Given the description of an element on the screen output the (x, y) to click on. 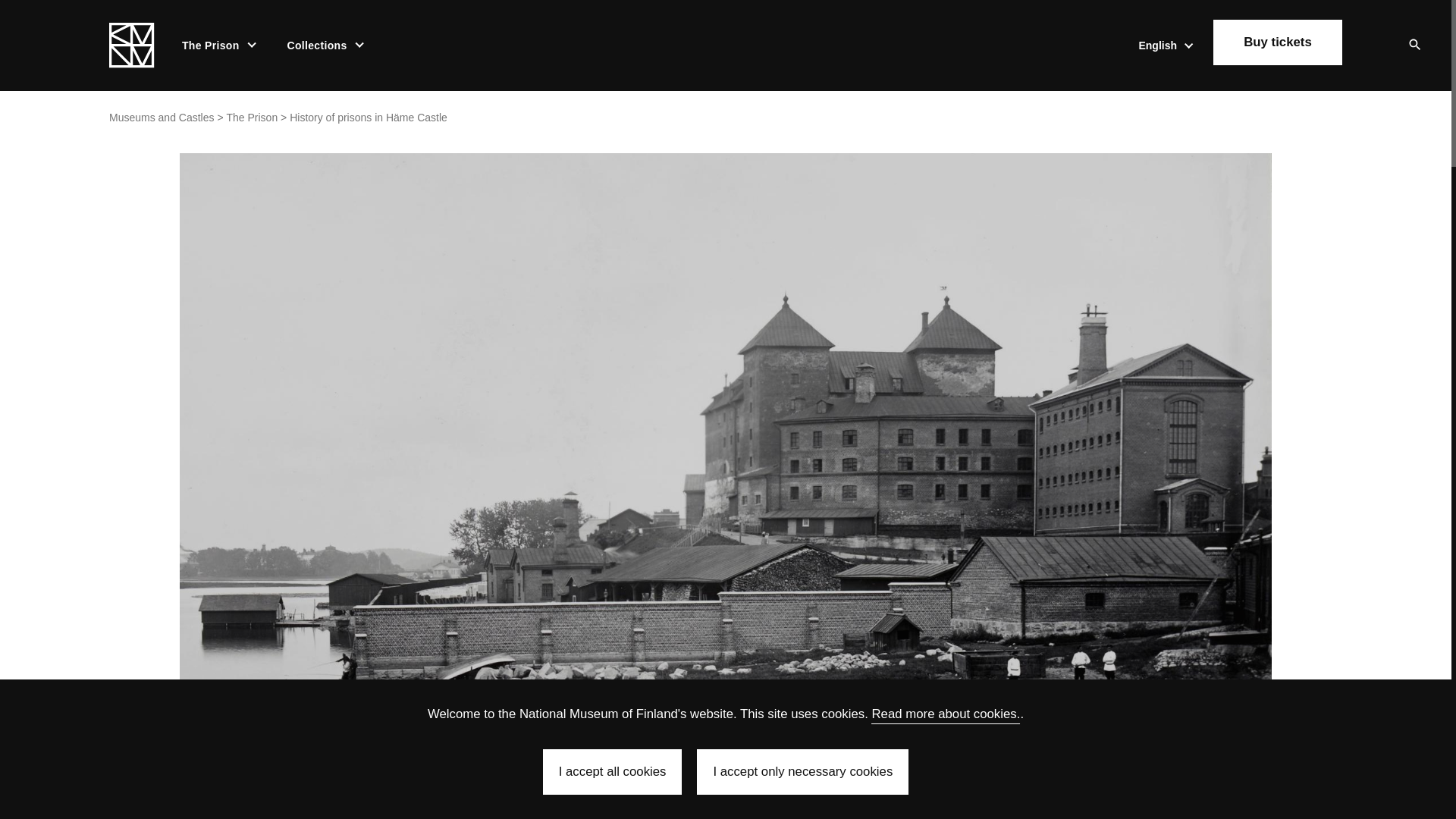
Collections (318, 45)
The National Museum of Finland - To frontpage (131, 44)
Buy tickets (1277, 42)
The Prison (211, 45)
